Given the description of an element on the screen output the (x, y) to click on. 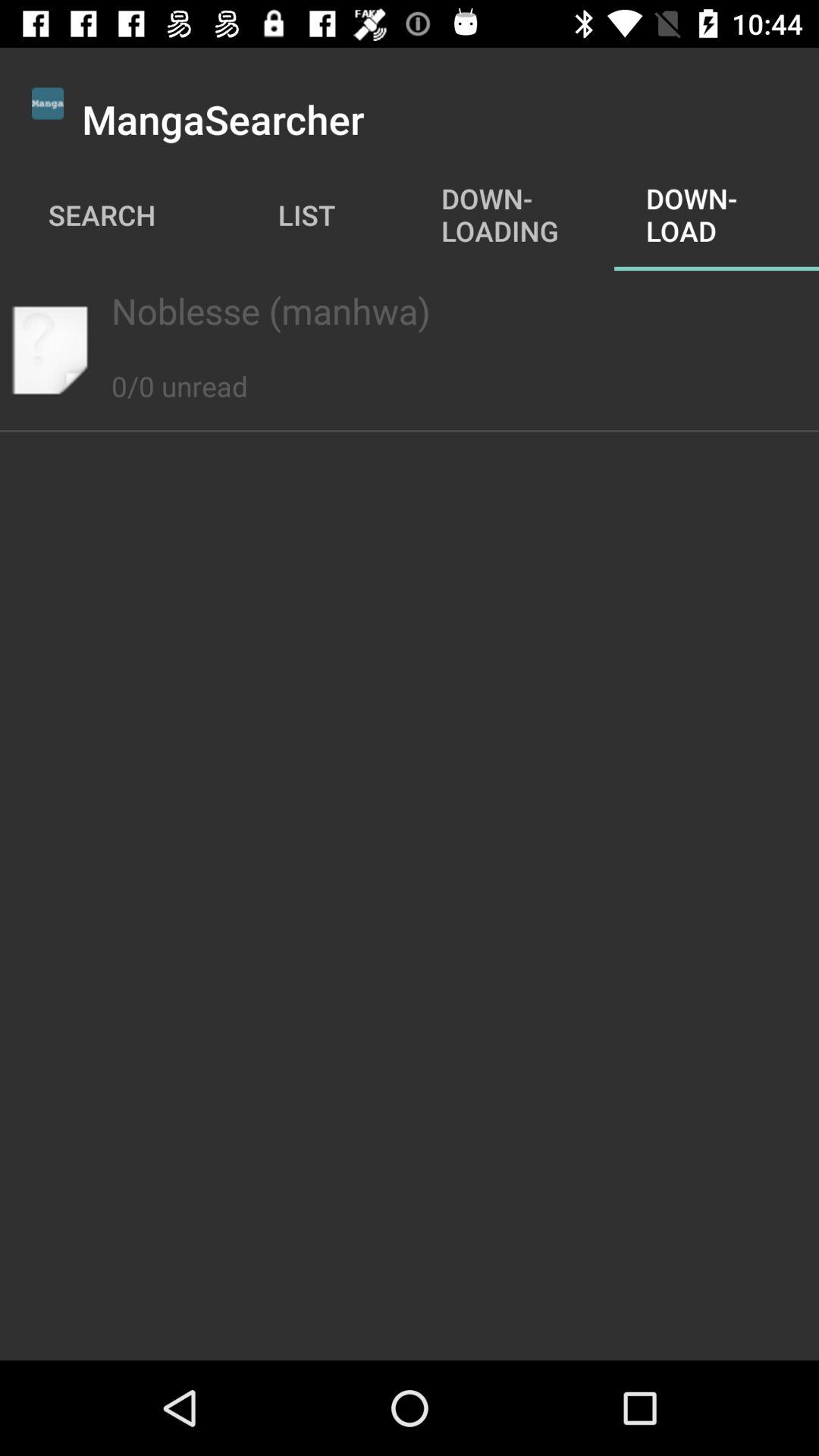
scroll to 0/0 unread app (179, 369)
